Given the description of an element on the screen output the (x, y) to click on. 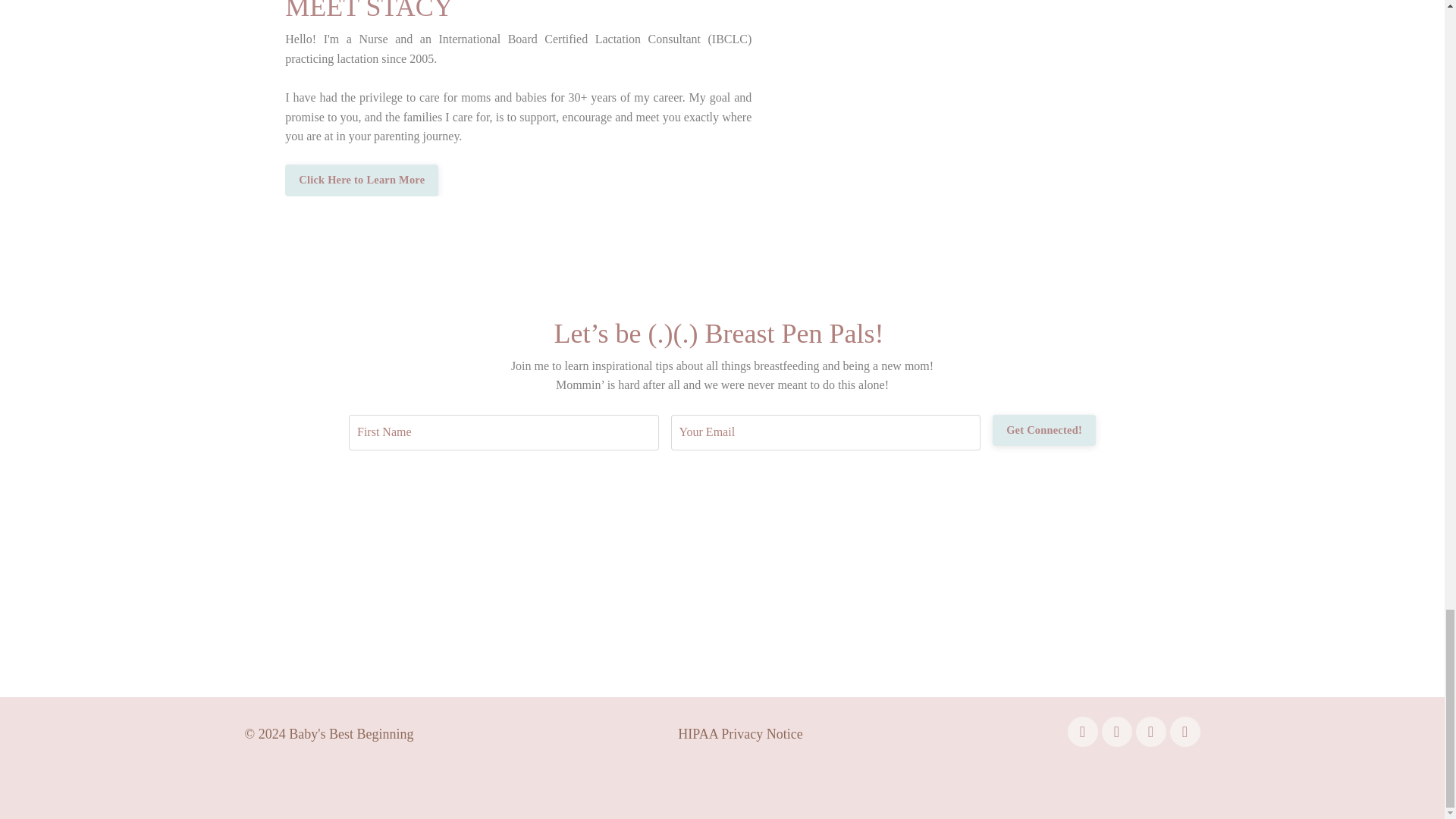
Powered by Kajabi (1158, 778)
HIPAA Privacy Notice (740, 734)
Click Here to Learn More (361, 180)
Get Connected! (1044, 430)
